Given the description of an element on the screen output the (x, y) to click on. 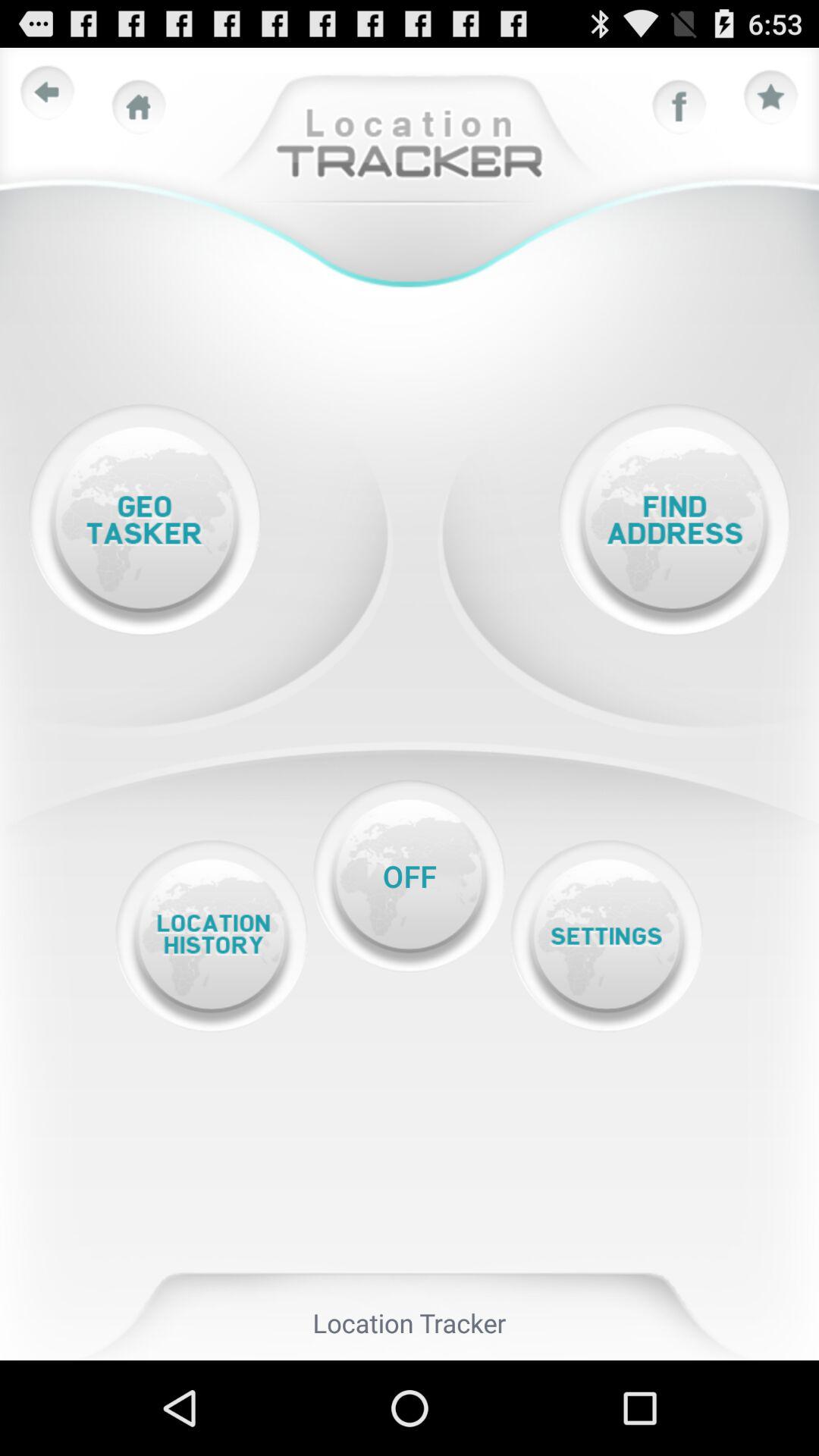
click to home icon (139, 107)
